Given the description of an element on the screen output the (x, y) to click on. 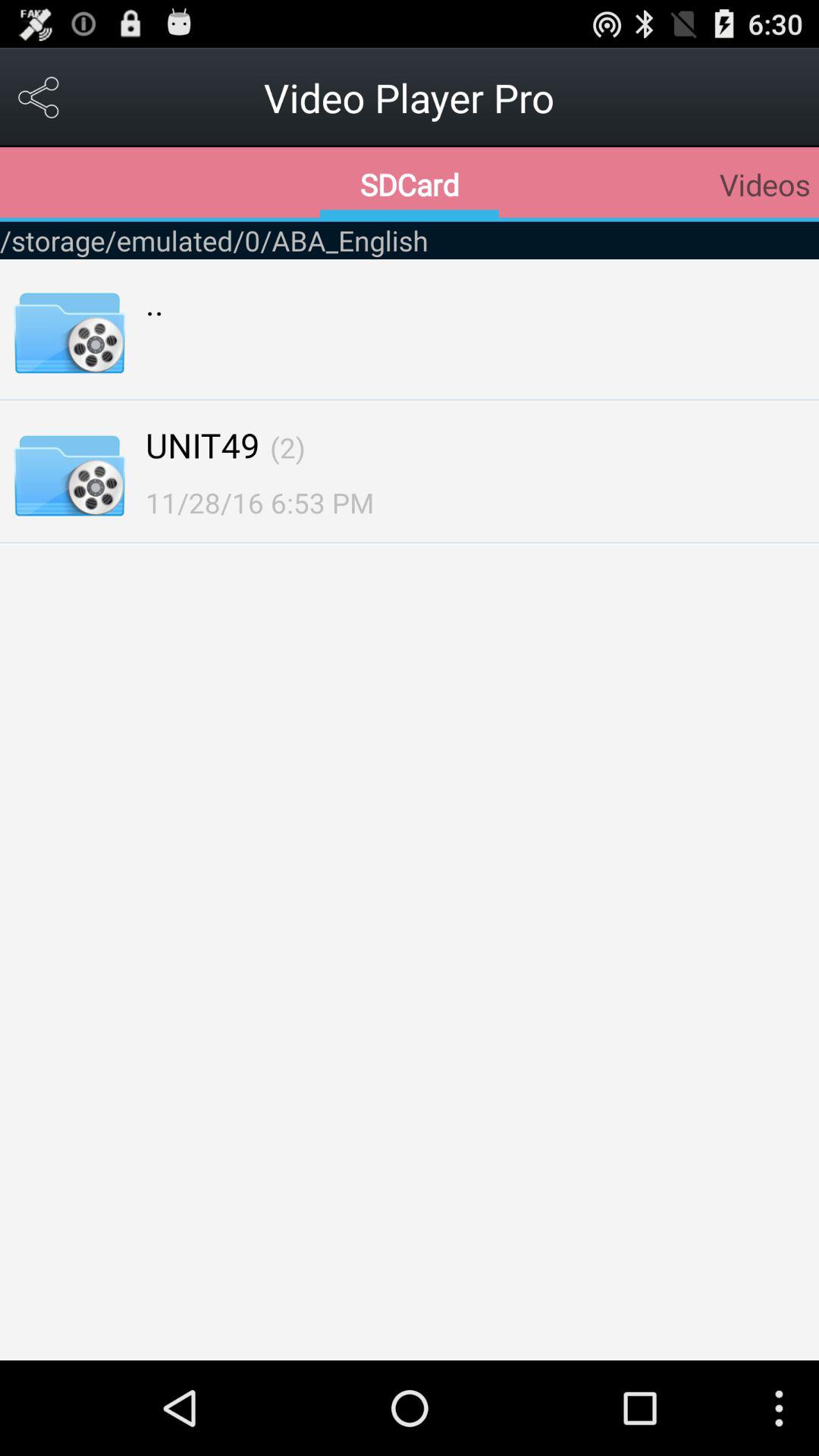
turn off the item on the left (259, 502)
